Given the description of an element on the screen output the (x, y) to click on. 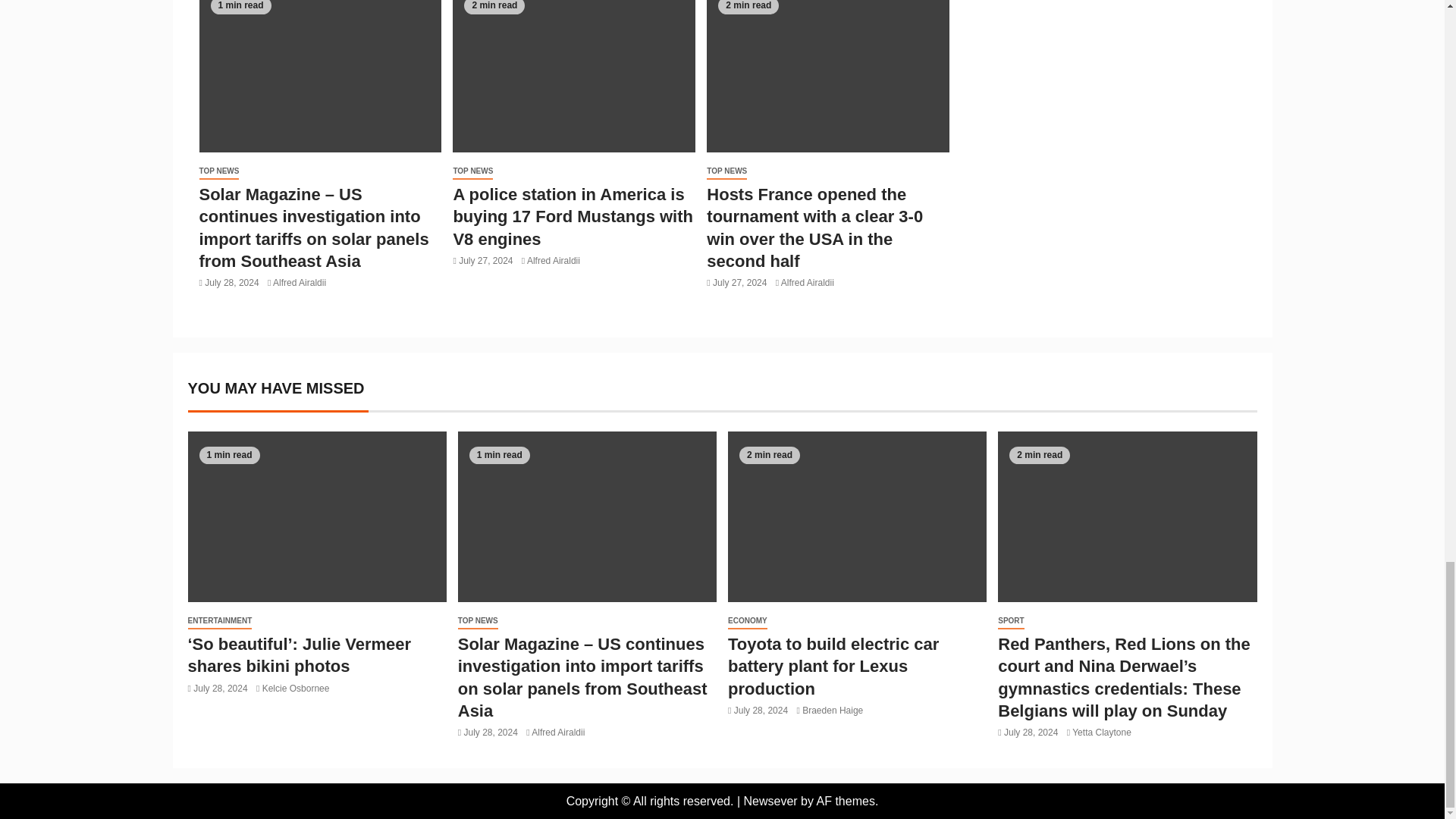
Alfred Airaldii (553, 260)
TOP NEWS (472, 171)
Alfred Airaldii (299, 282)
TOP NEWS (218, 171)
TOP NEWS (726, 171)
